Given the description of an element on the screen output the (x, y) to click on. 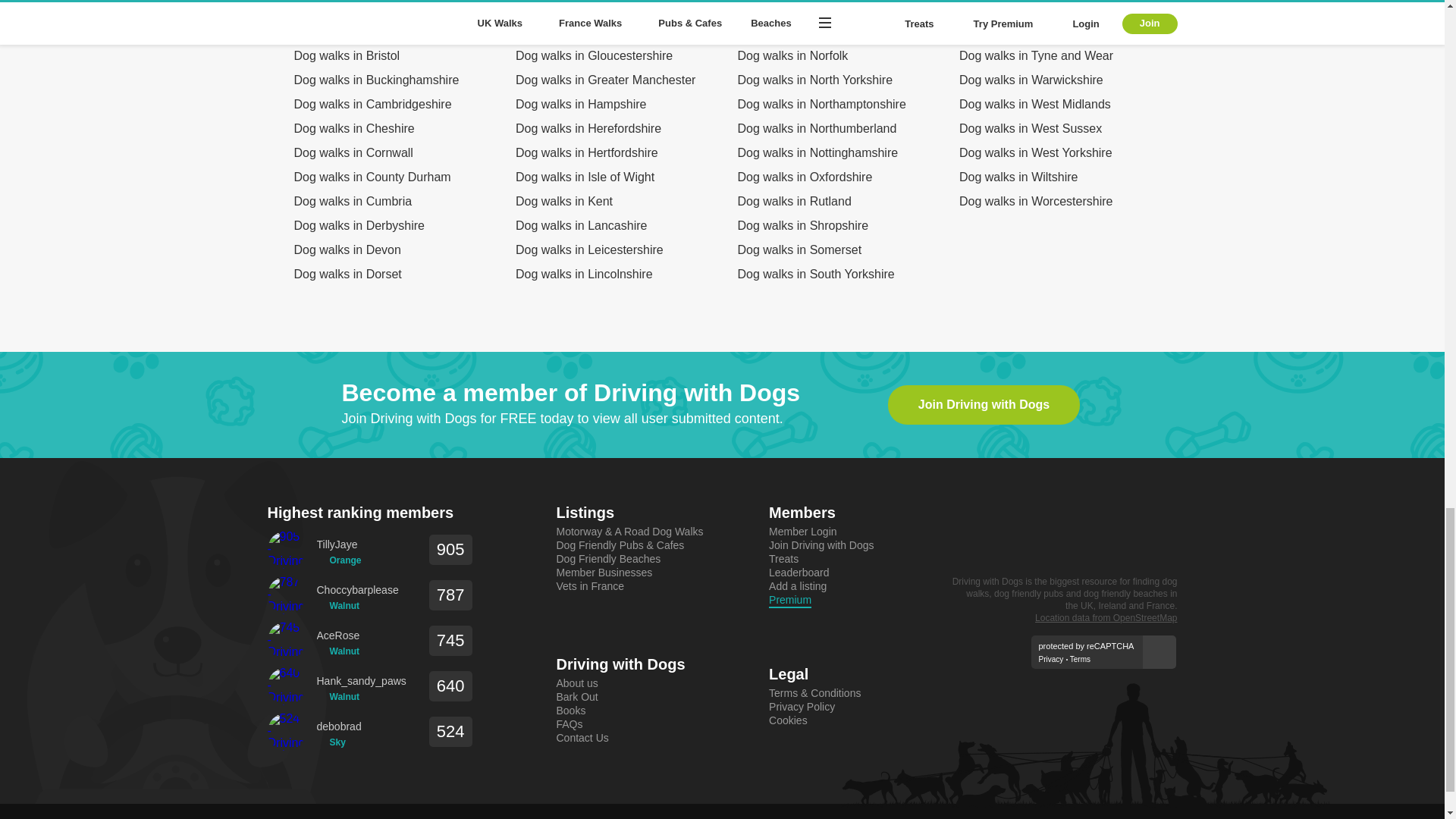
debobrad (339, 726)
Choccybarplease (357, 590)
TillyJaye (339, 544)
AceRose (338, 635)
